Given the description of an element on the screen output the (x, y) to click on. 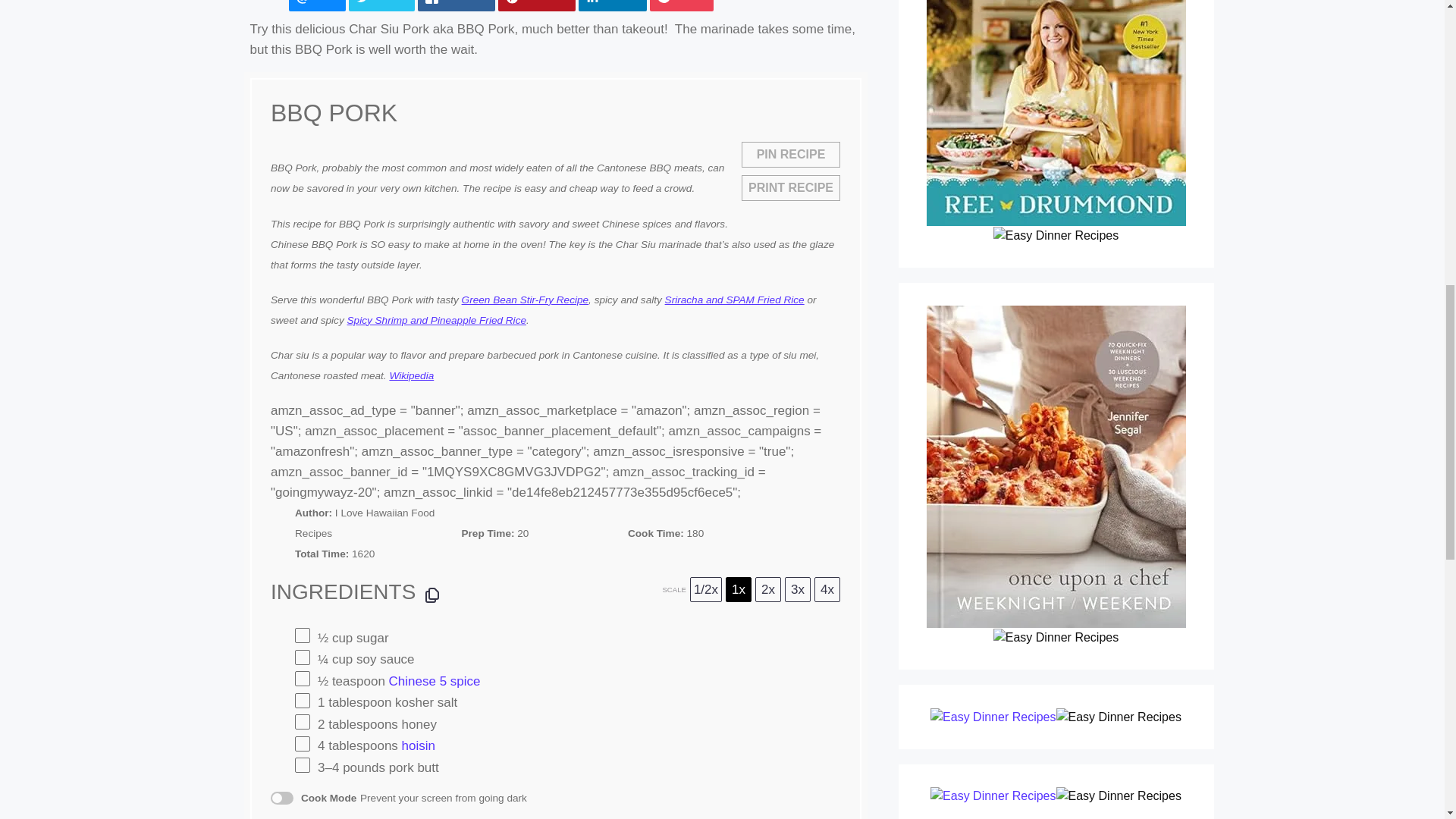
Copy to clipboard Copy to clipboard (432, 595)
